Given the description of an element on the screen output the (x, y) to click on. 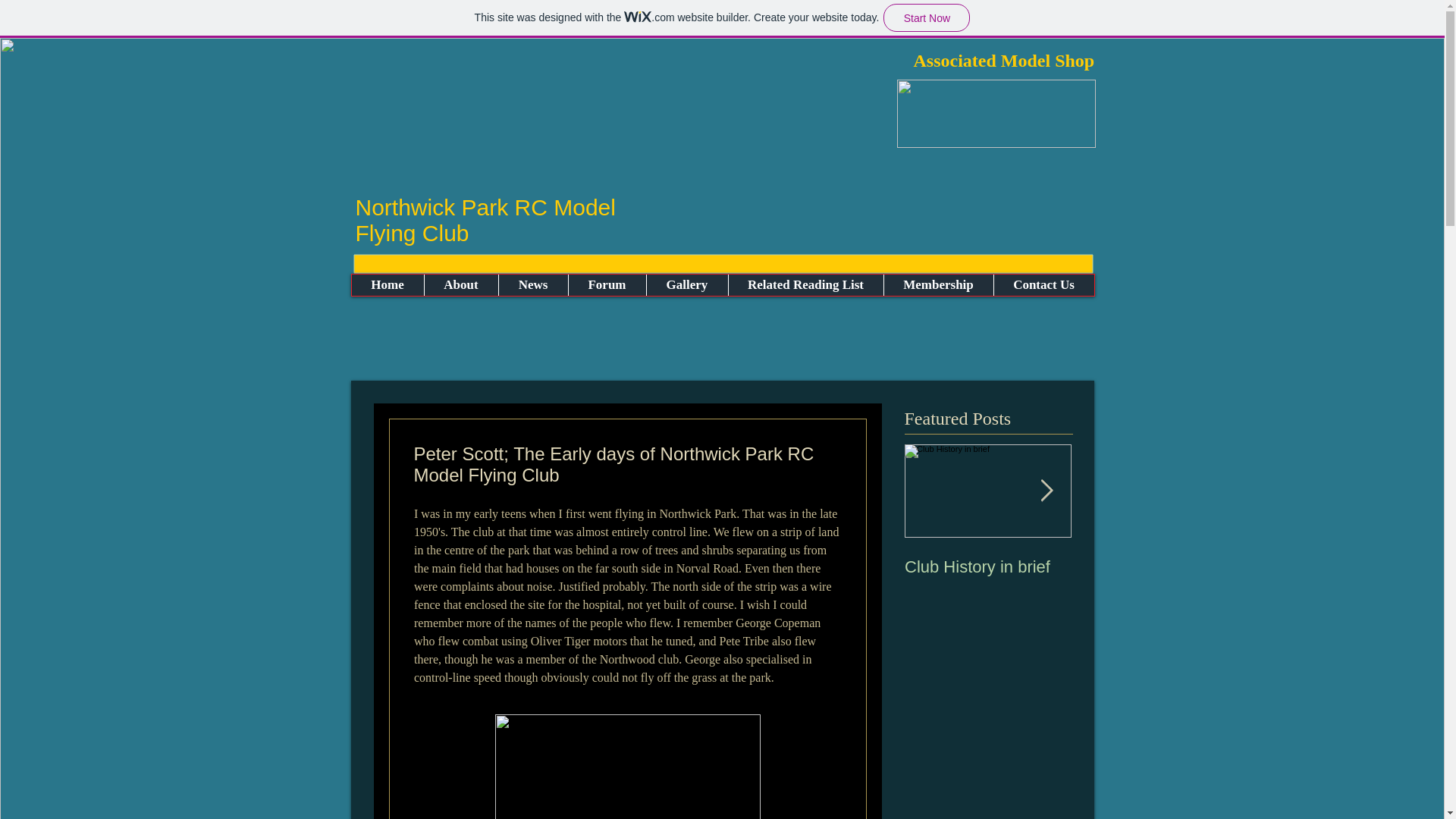
Home (387, 284)
Forum (606, 284)
Related Reading List (805, 284)
Club History in brief (987, 567)
Gallery (687, 284)
Associated Model Shop (1003, 60)
News (532, 284)
Contact Us (1043, 284)
Membership (937, 284)
A day out for the boys - Old Warden and other things. (1153, 586)
About (460, 284)
